Given the description of an element on the screen output the (x, y) to click on. 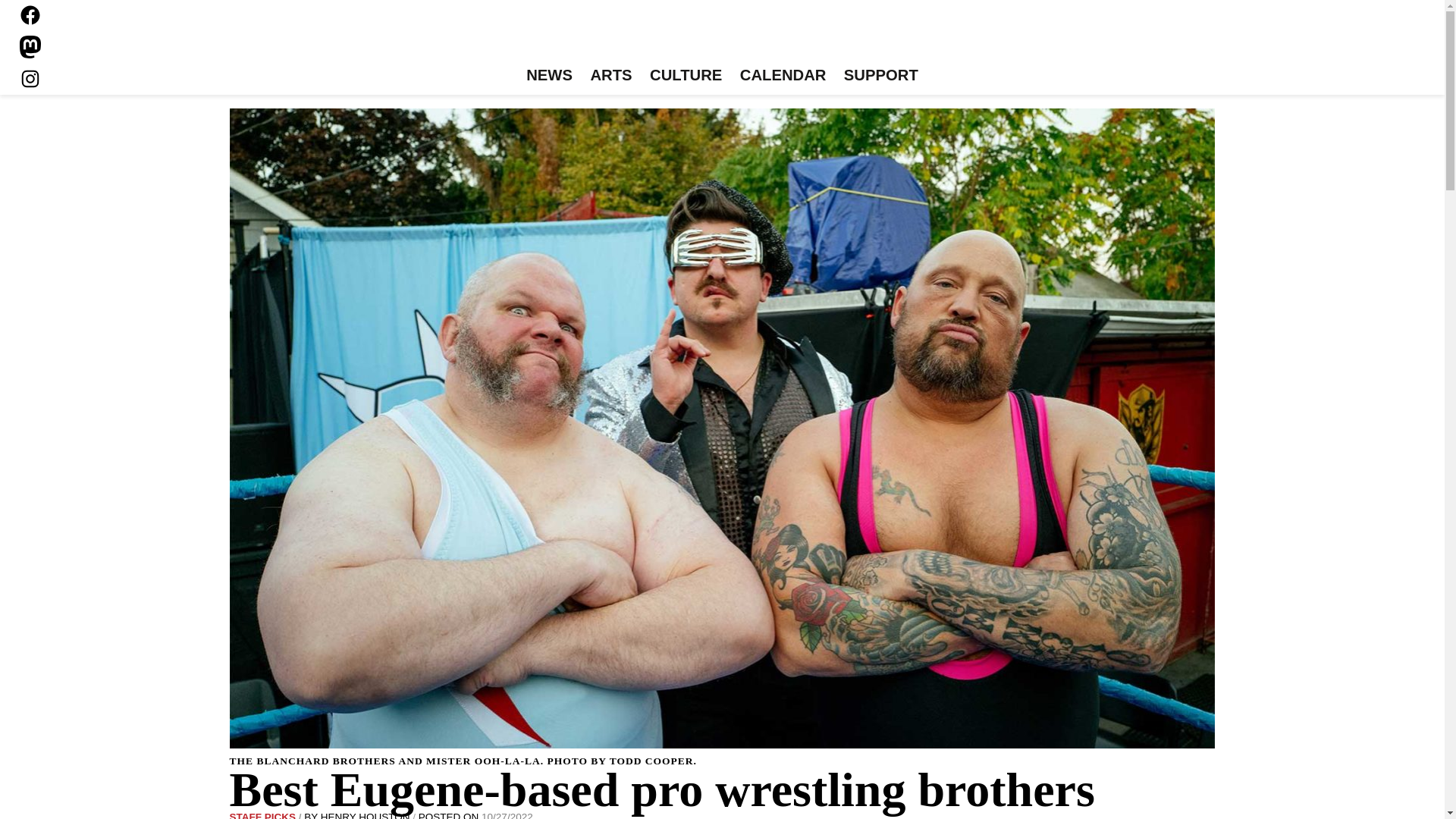
ARTS (611, 75)
SUPPORT (880, 75)
NEWS (548, 75)
CULTURE (685, 75)
Facebook (30, 15)
Mastodon (30, 47)
Eugene Weekly (721, 37)
CALENDAR (782, 75)
Instagram (30, 78)
